Given the description of an element on the screen output the (x, y) to click on. 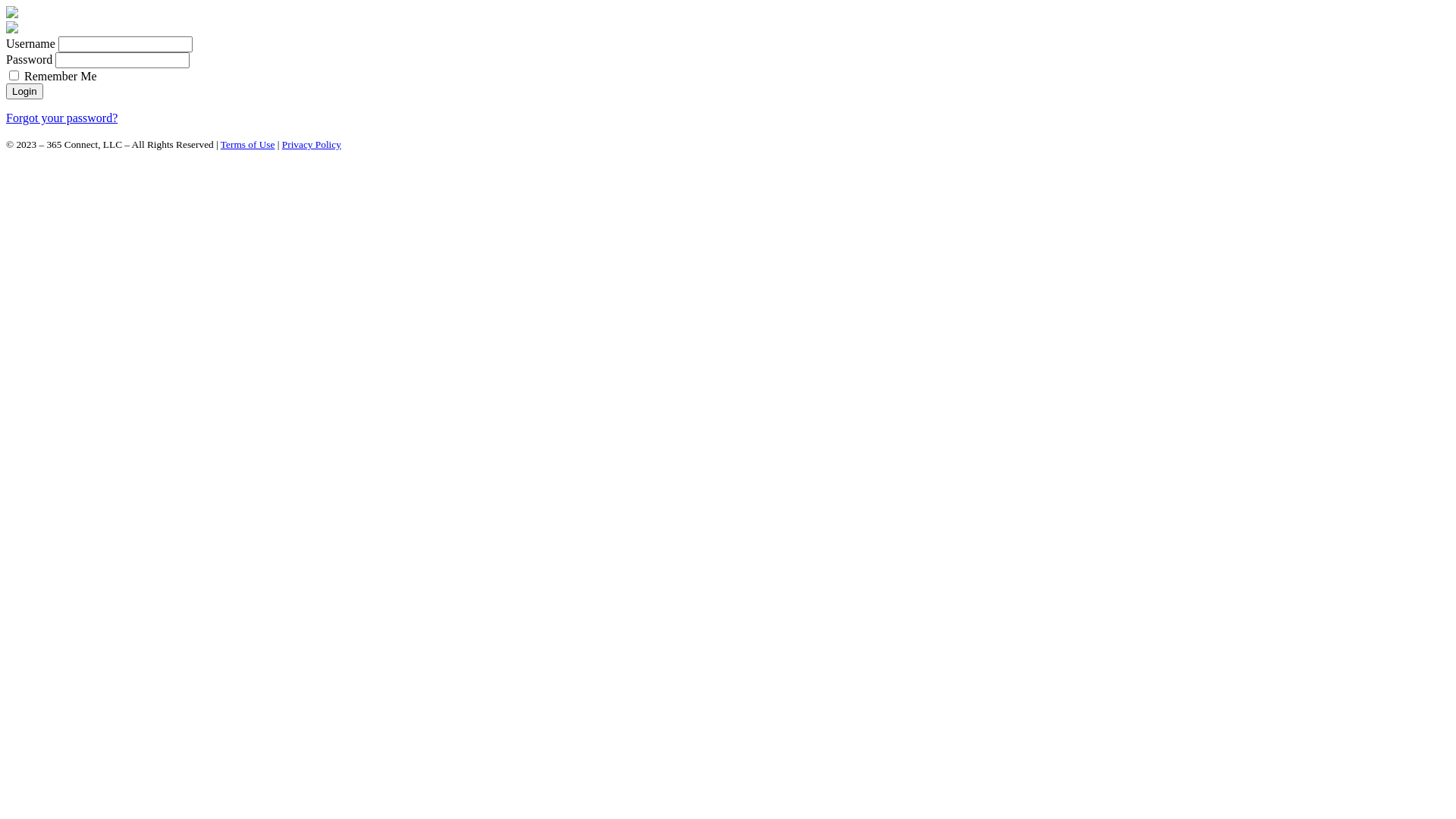
Login Element type: text (24, 91)
Forgot your password? Element type: text (61, 117)
Privacy Policy Element type: text (311, 144)
Terms of Use Element type: text (247, 144)
